Given the description of an element on the screen output the (x, y) to click on. 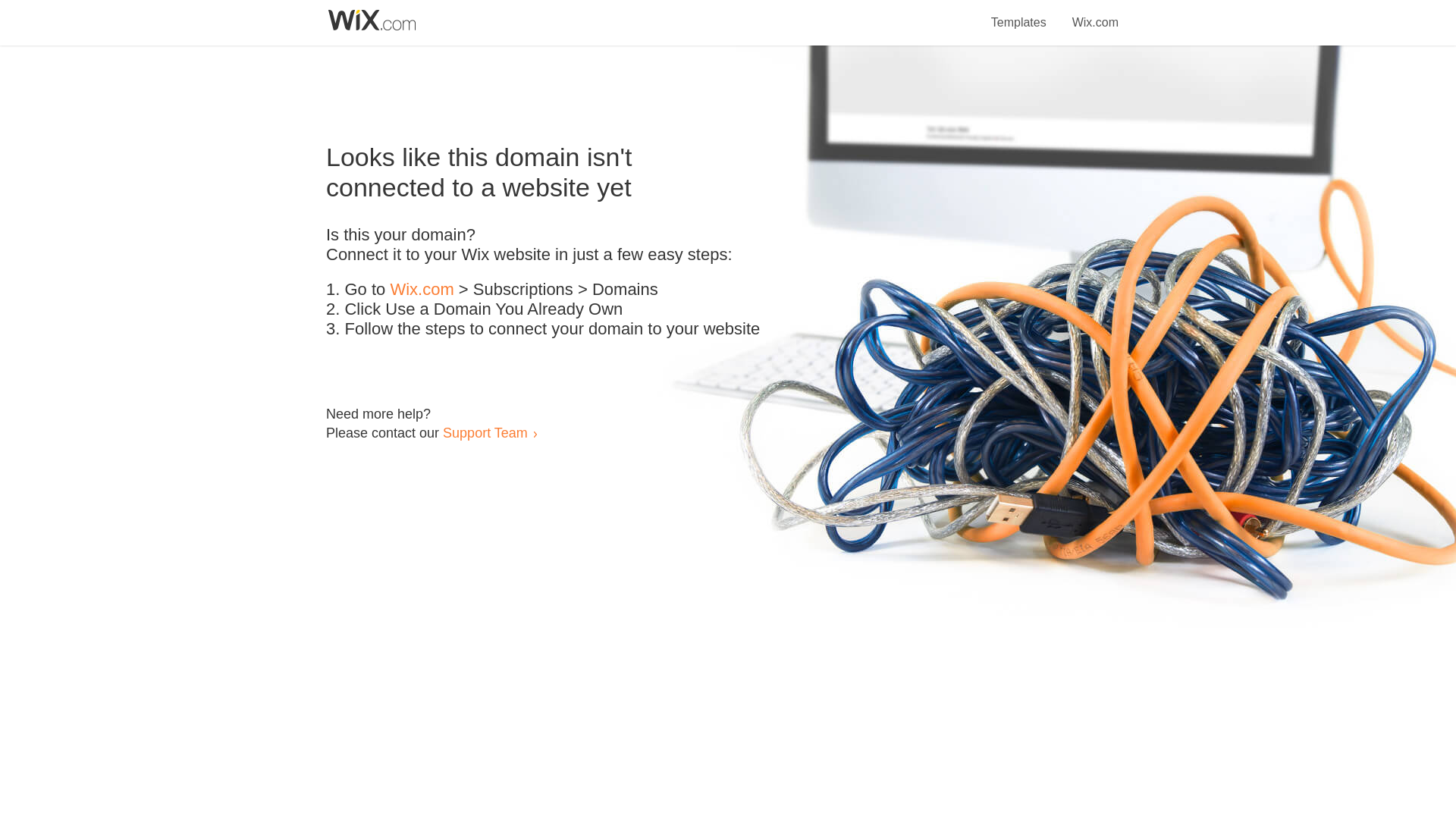
Templates (1018, 14)
Support Team (484, 432)
Wix.com (1095, 14)
Wix.com (421, 289)
